Given the description of an element on the screen output the (x, y) to click on. 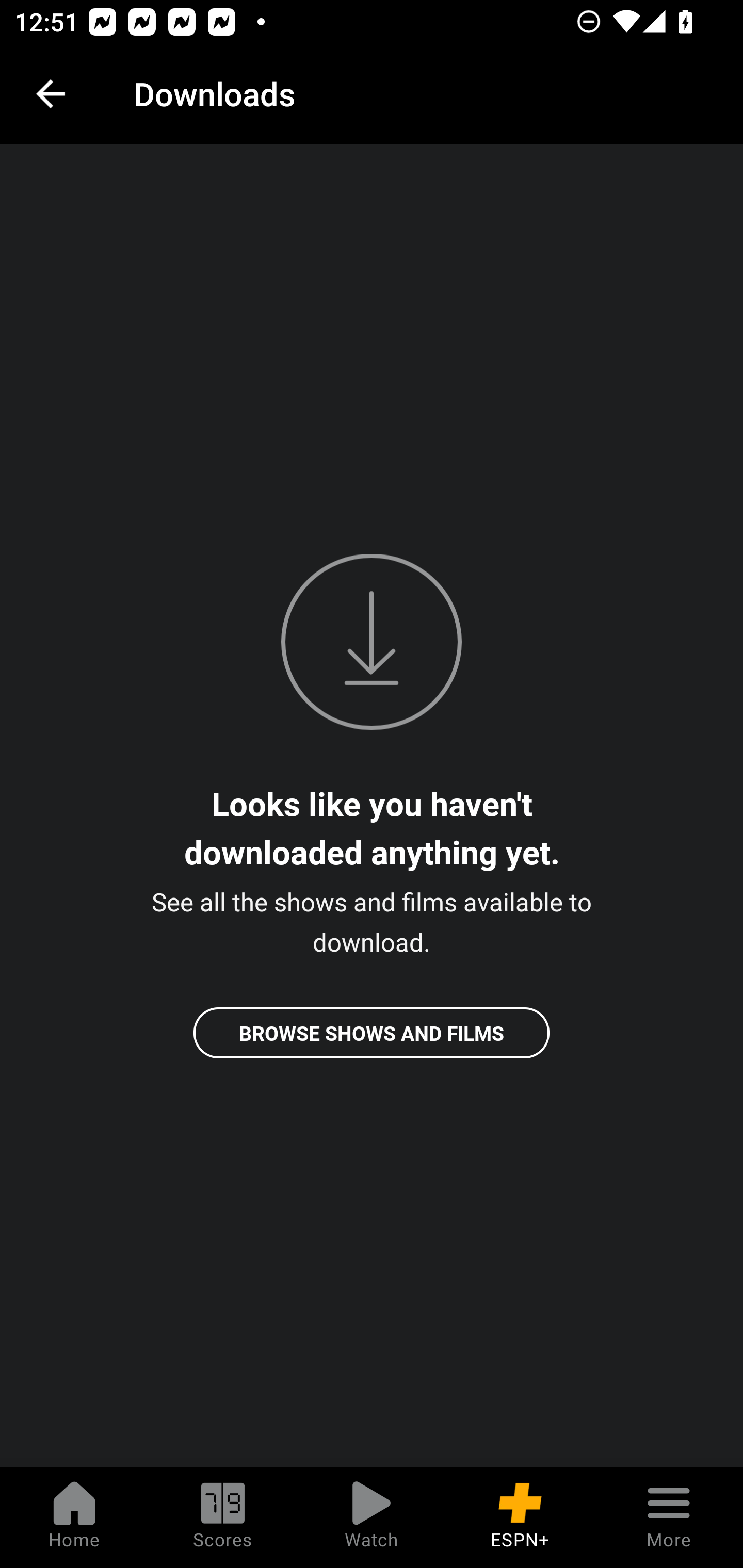
BROWSE SHOWS AND FILMS (371, 1032)
Home (74, 1517)
Scores (222, 1517)
Watch (371, 1517)
More (668, 1517)
